Given the description of an element on the screen output the (x, y) to click on. 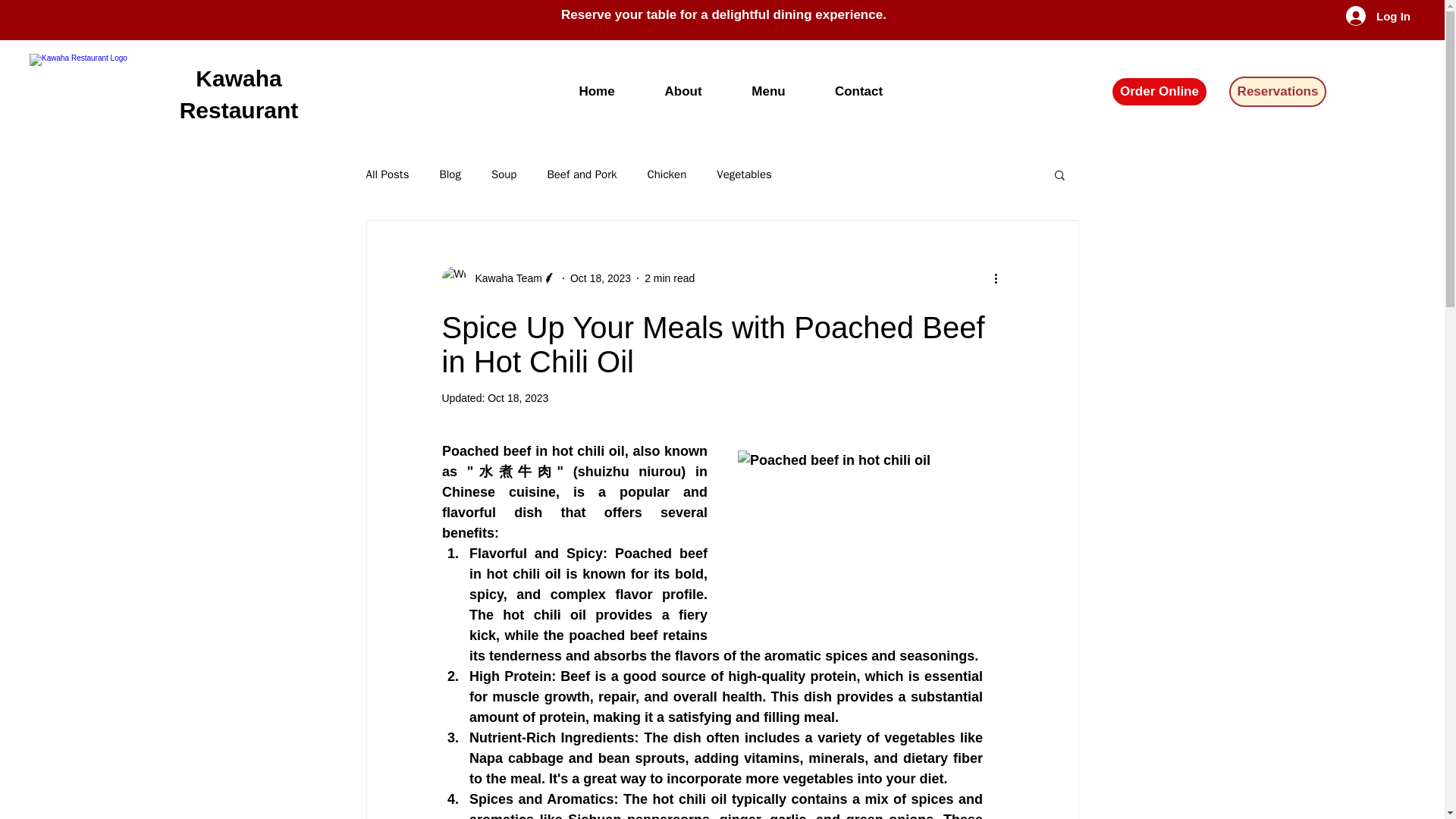
Contact (858, 91)
Reservations (1277, 91)
Log In (1365, 15)
Beef and Pork (581, 173)
2 min read (669, 277)
Vegetables (743, 173)
Oct 18, 2023 (517, 398)
Kawaha Team (498, 278)
Soup (504, 173)
Oct 18, 2023 (600, 277)
